Given the description of an element on the screen output the (x, y) to click on. 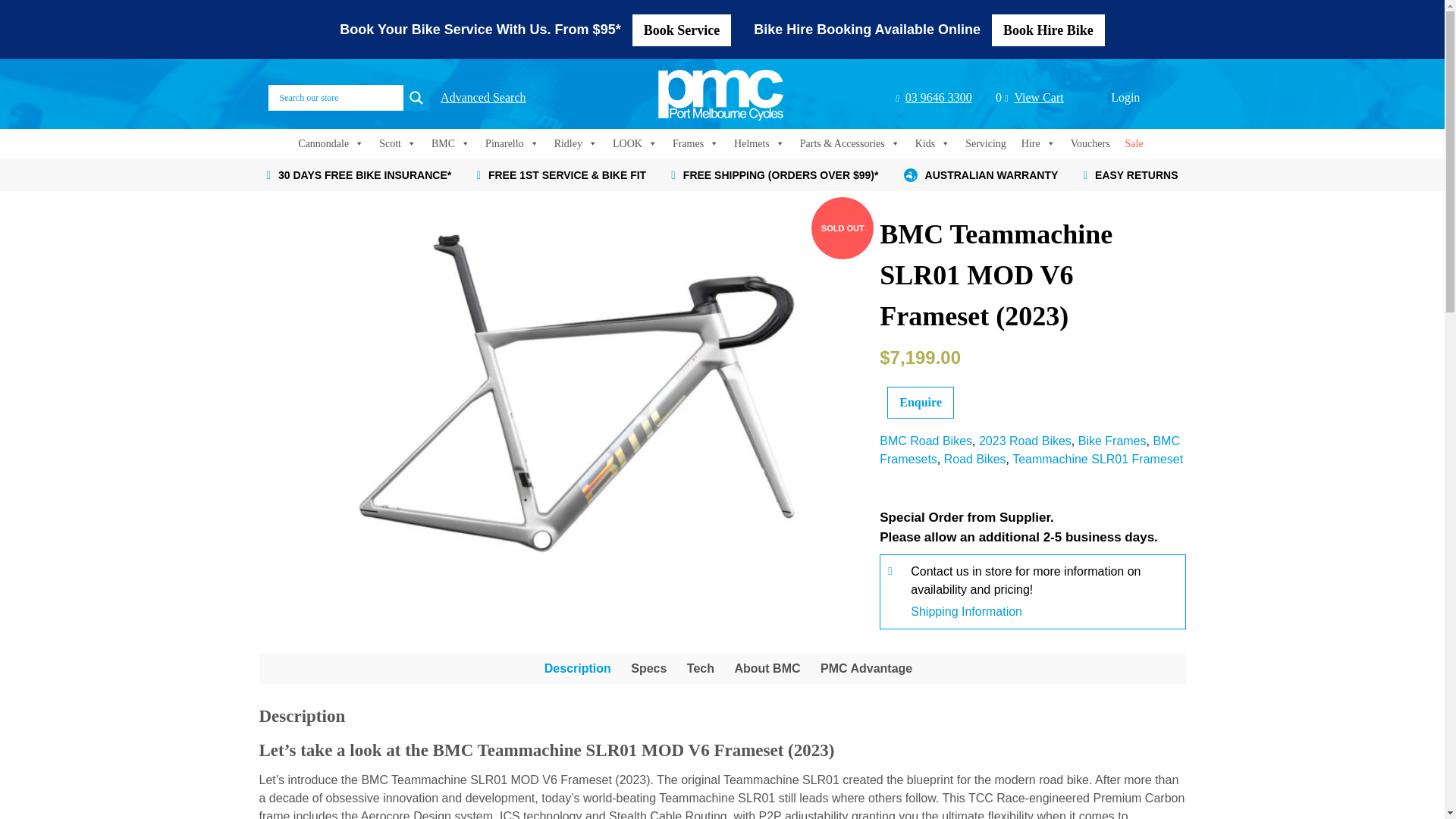
Login (1125, 97)
0 View Cart (1029, 97)
03 9646 3300 (933, 97)
Login (1125, 97)
Book Service (681, 29)
Book Hire Bike (1048, 29)
Advanced Search (483, 97)
Scott (397, 143)
Cannondale (330, 143)
